Given the description of an element on the screen output the (x, y) to click on. 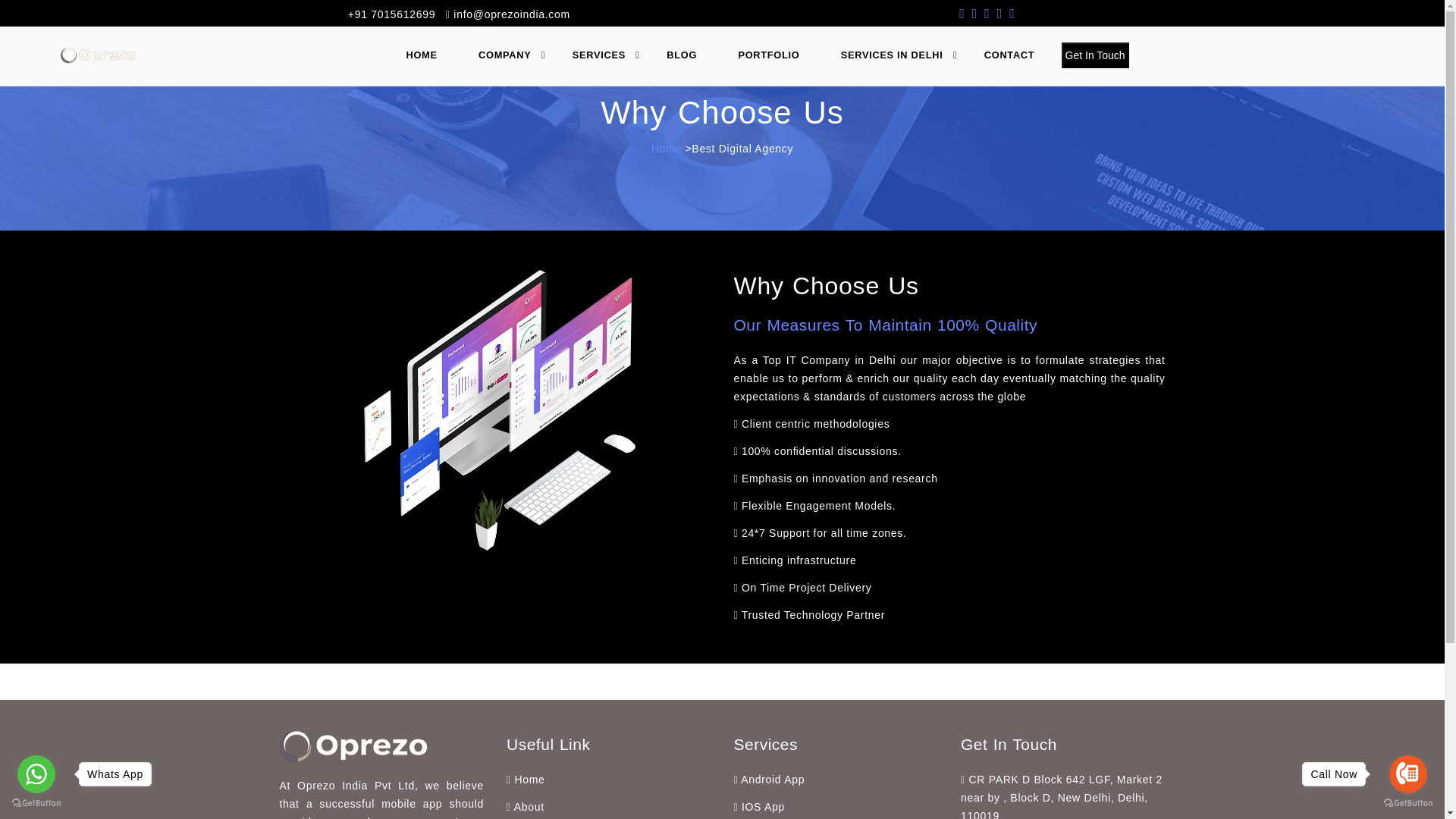
SERVICES (604, 55)
COMPANY (510, 55)
HOME (428, 55)
